Given the description of an element on the screen output the (x, y) to click on. 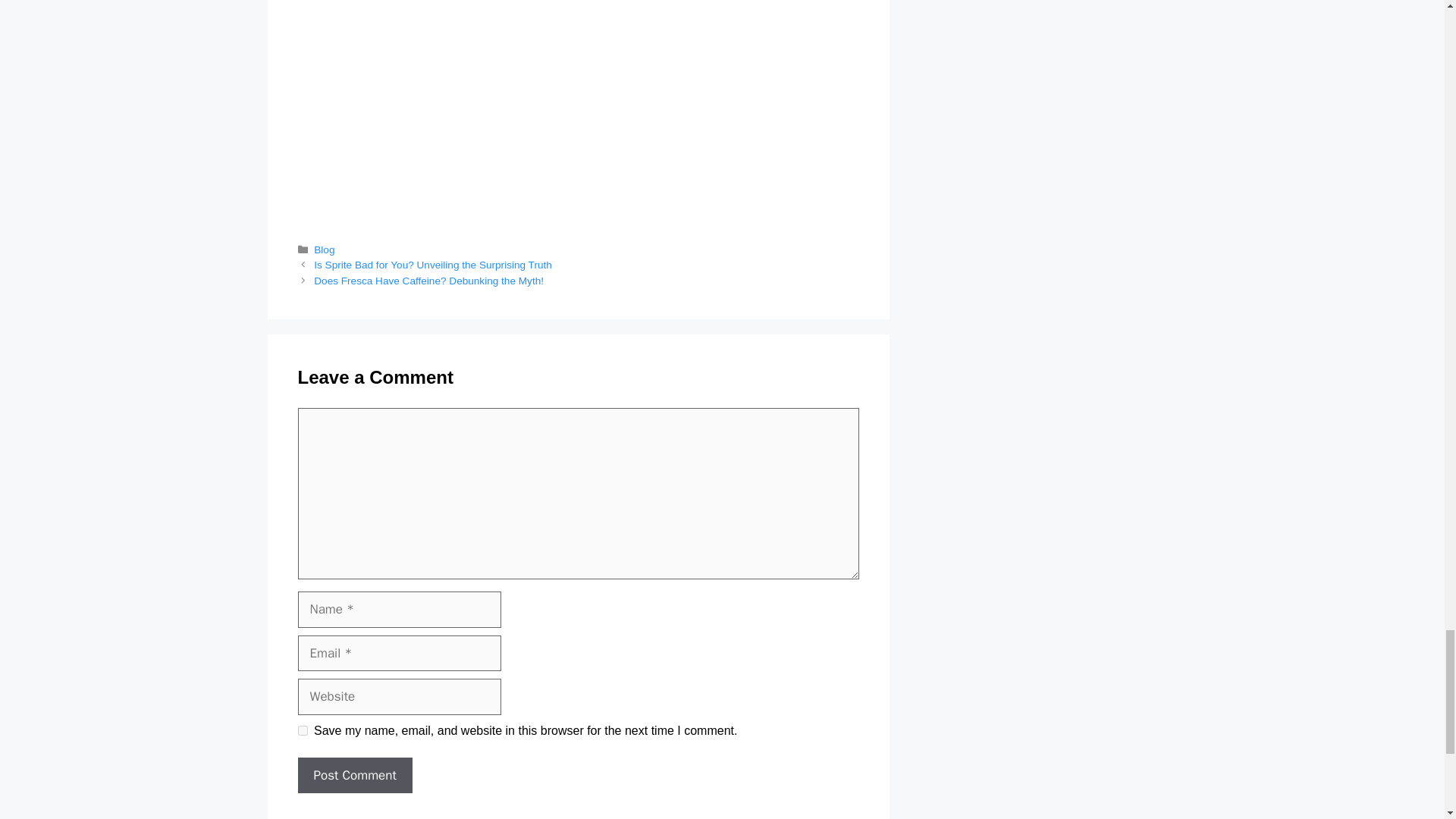
yes (302, 730)
Post Comment (354, 775)
What's inside Monster Energy Drink? (578, 90)
